Given the description of an element on the screen output the (x, y) to click on. 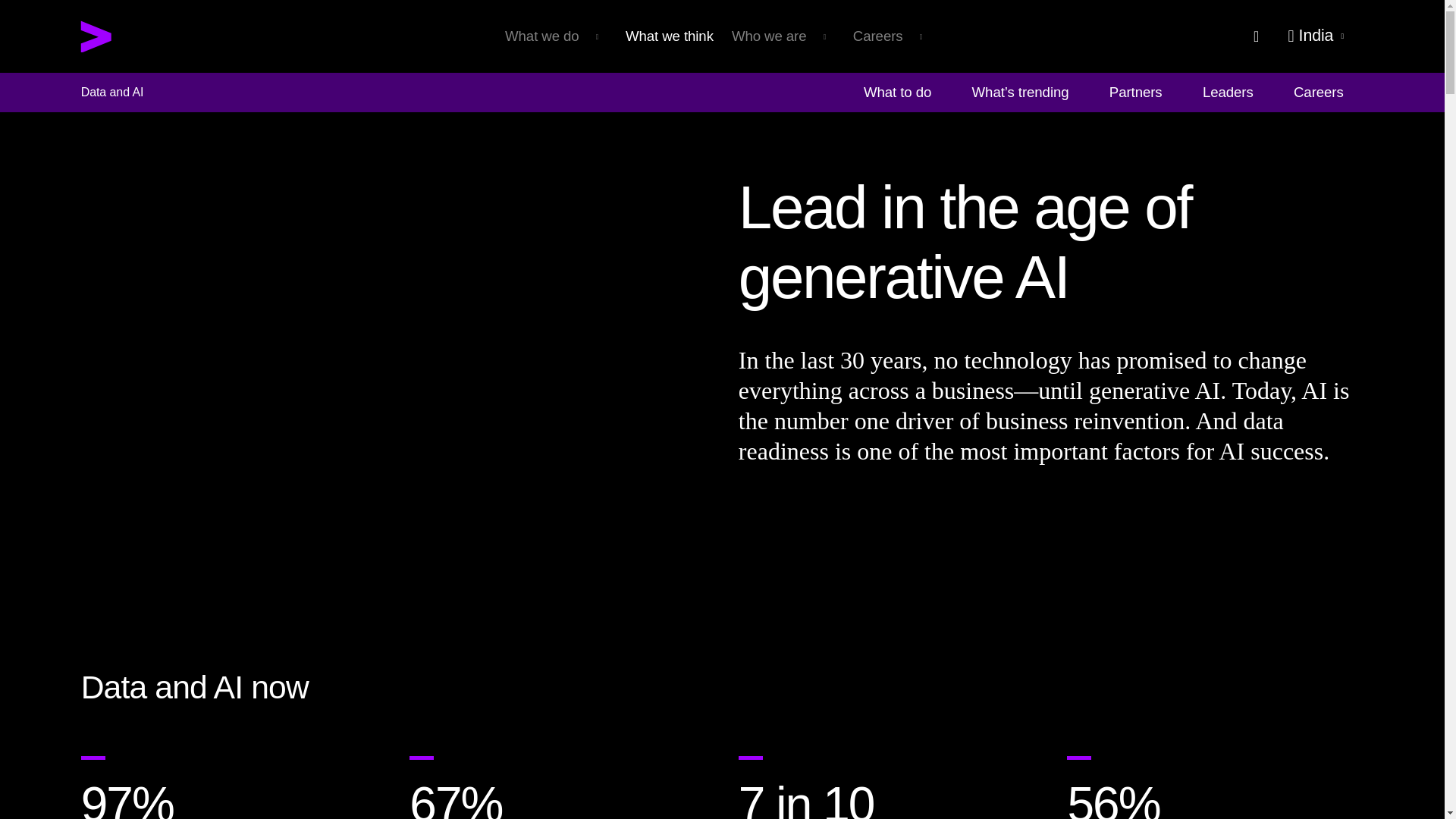
What we do (555, 34)
